Given the description of an element on the screen output the (x, y) to click on. 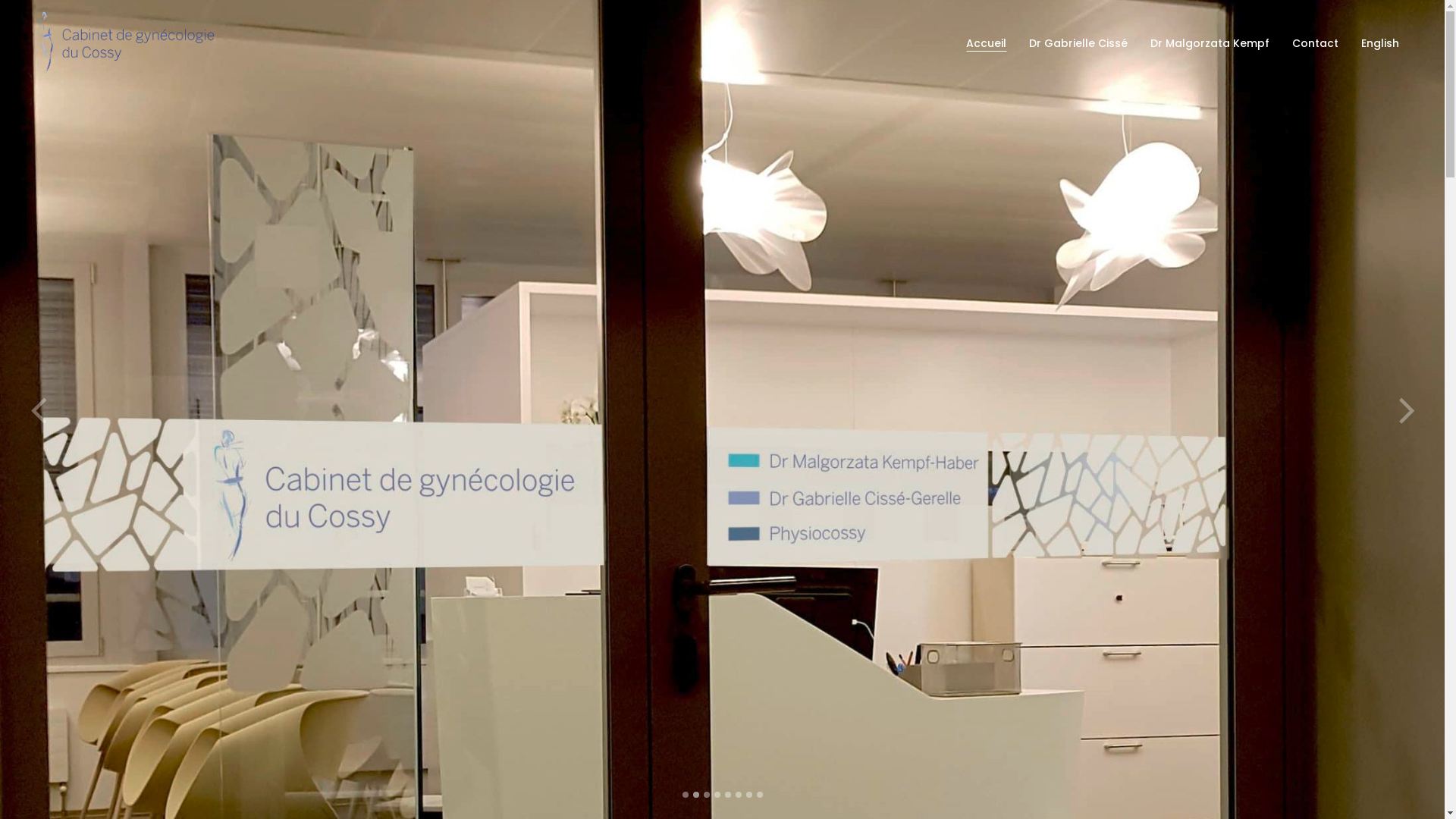
Contact Element type: text (1314, 43)
English Element type: text (1379, 43)
Accueil Element type: text (985, 43)
Dr Malgorzata Kempf Element type: text (1209, 43)
